Given the description of an element on the screen output the (x, y) to click on. 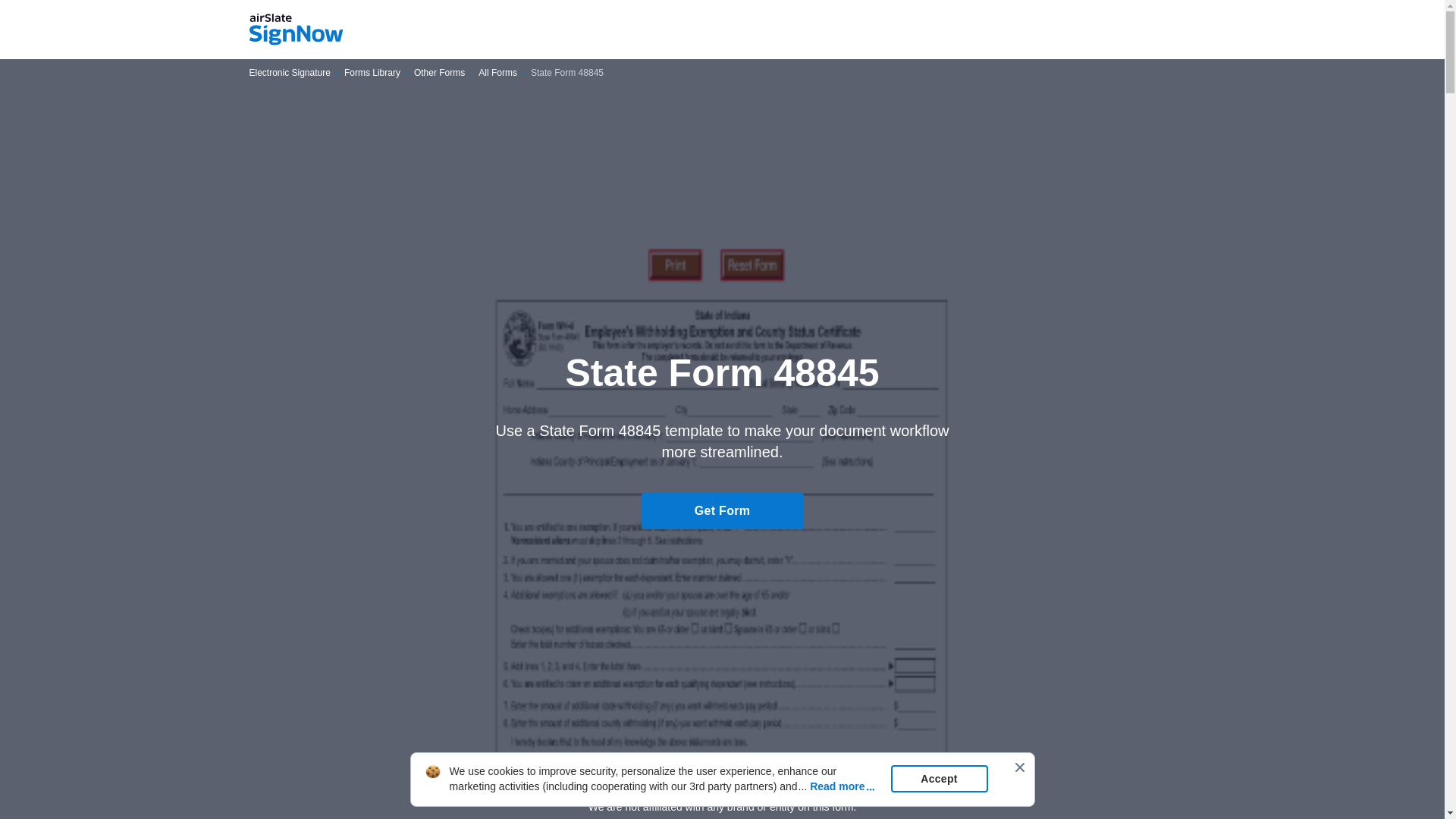
Show details (722, 780)
All Forms (497, 73)
signNow (295, 29)
Electronic Signature (289, 73)
Get Form (722, 511)
Forms Library (371, 73)
Other Forms (438, 73)
